Given the description of an element on the screen output the (x, y) to click on. 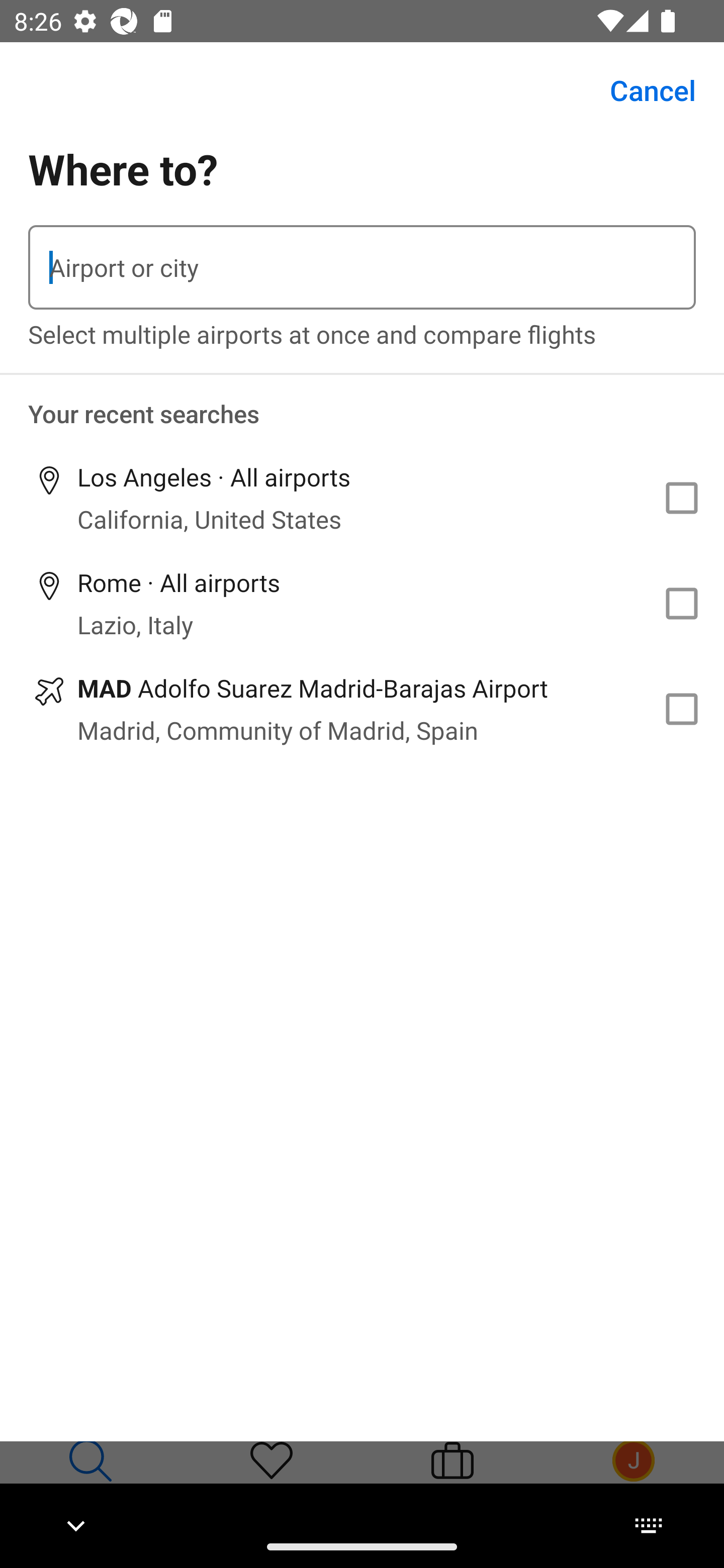
Cancel (641, 90)
Airport or city (361, 266)
Rome · All airports Lazio, Italy (362, 603)
